Given the description of an element on the screen output the (x, y) to click on. 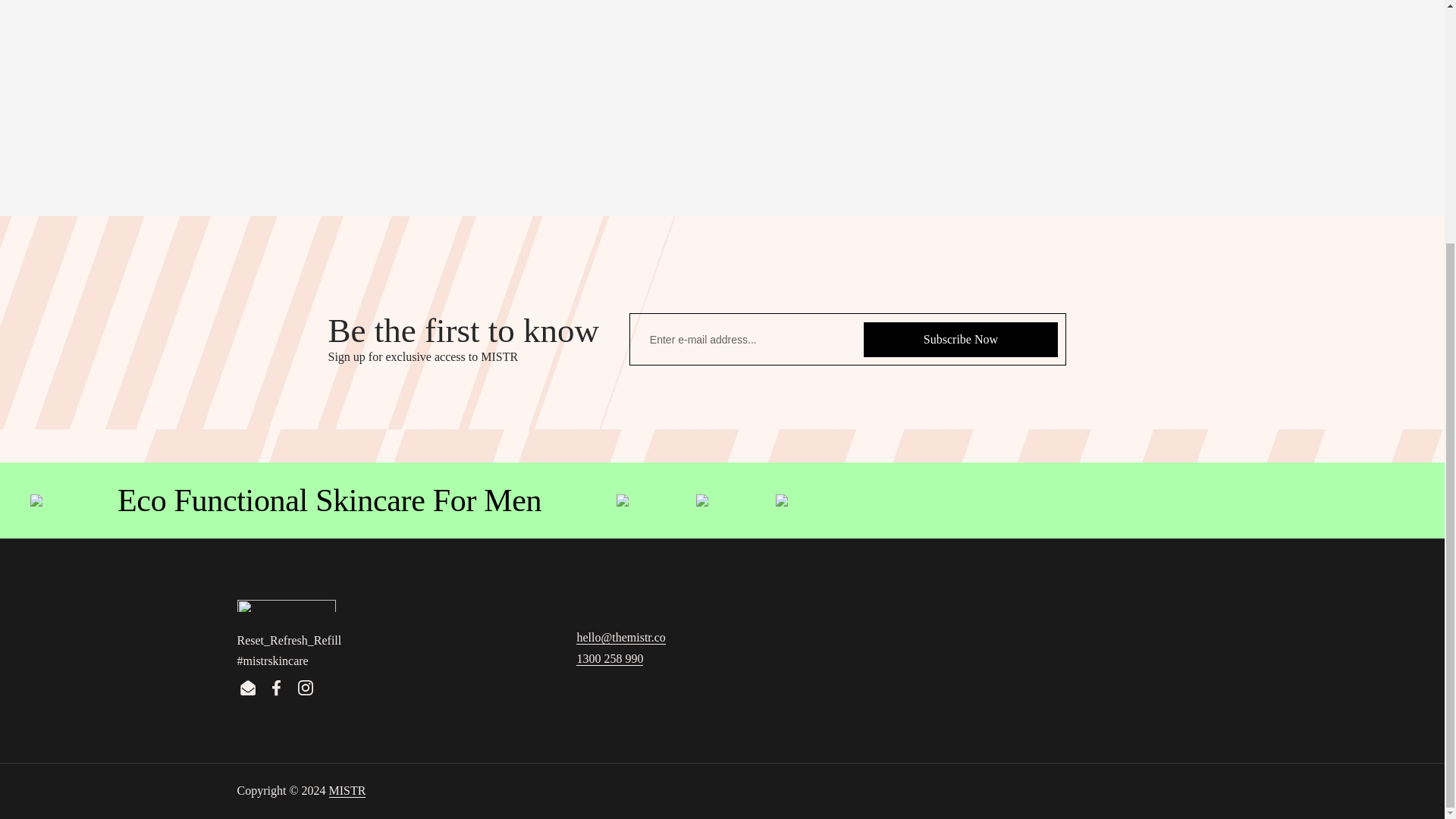
1300 258 990 (609, 658)
tel:1300 258 990 (609, 658)
Instagram (305, 687)
Email (247, 687)
Subscribe Now (960, 339)
Facebook (276, 687)
MISTR (347, 790)
